Given the description of an element on the screen output the (x, y) to click on. 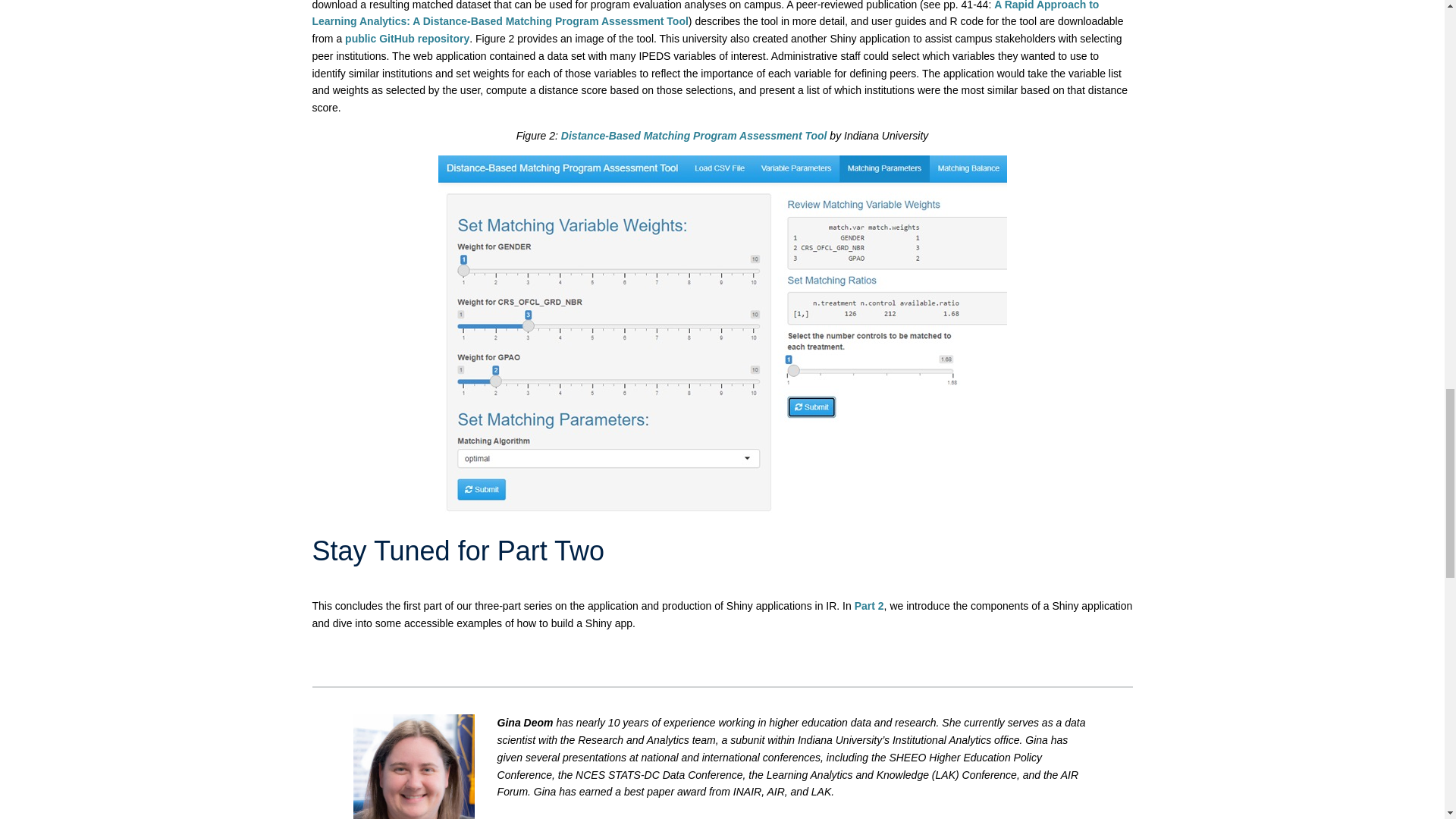
Deom (413, 766)
